Given the description of an element on the screen output the (x, y) to click on. 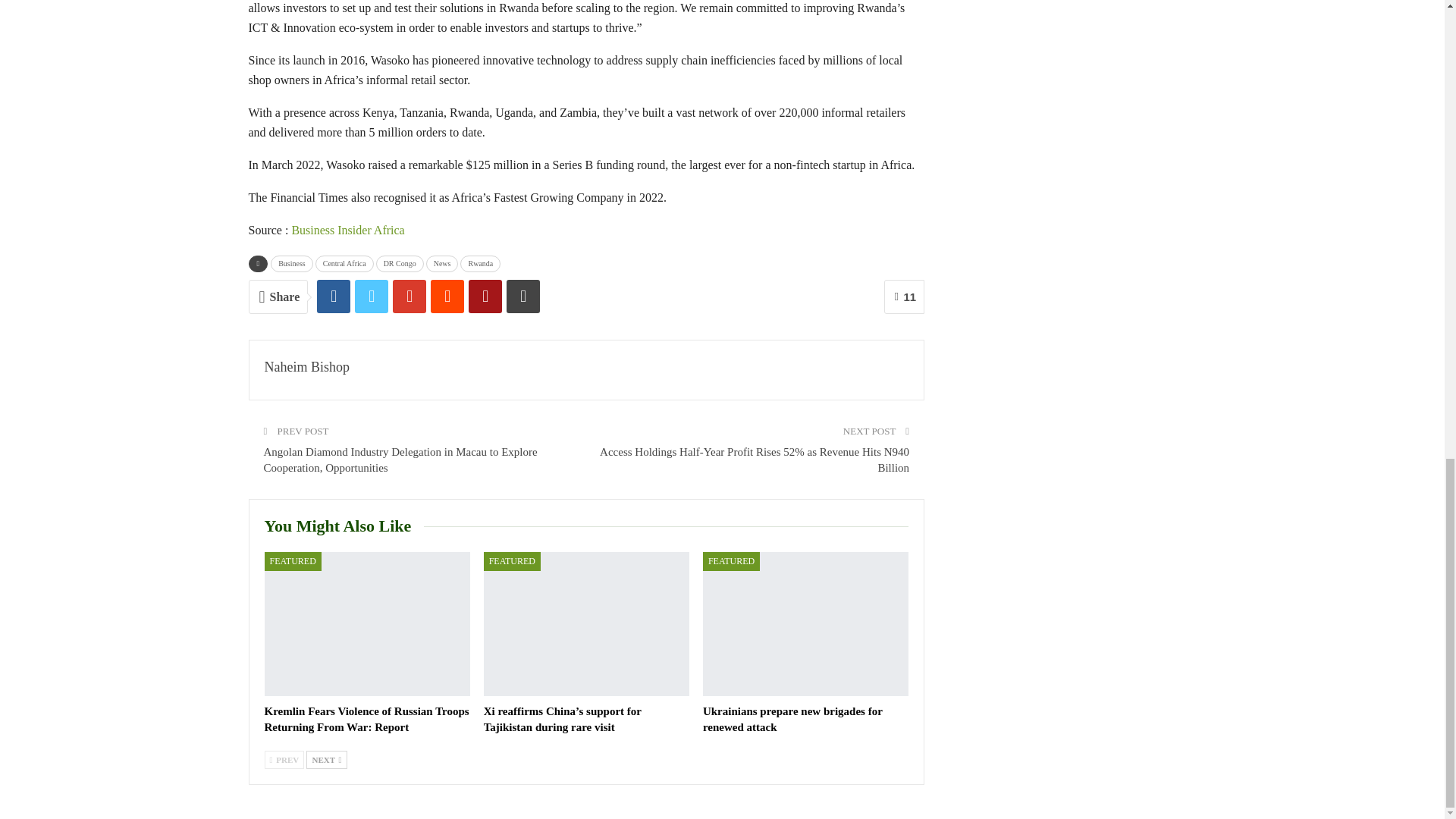
Next (325, 760)
Previous (283, 760)
Ukrainians prepare new brigades for renewed attack (792, 719)
Ukrainians prepare new brigades for renewed attack (805, 624)
